Given the description of an element on the screen output the (x, y) to click on. 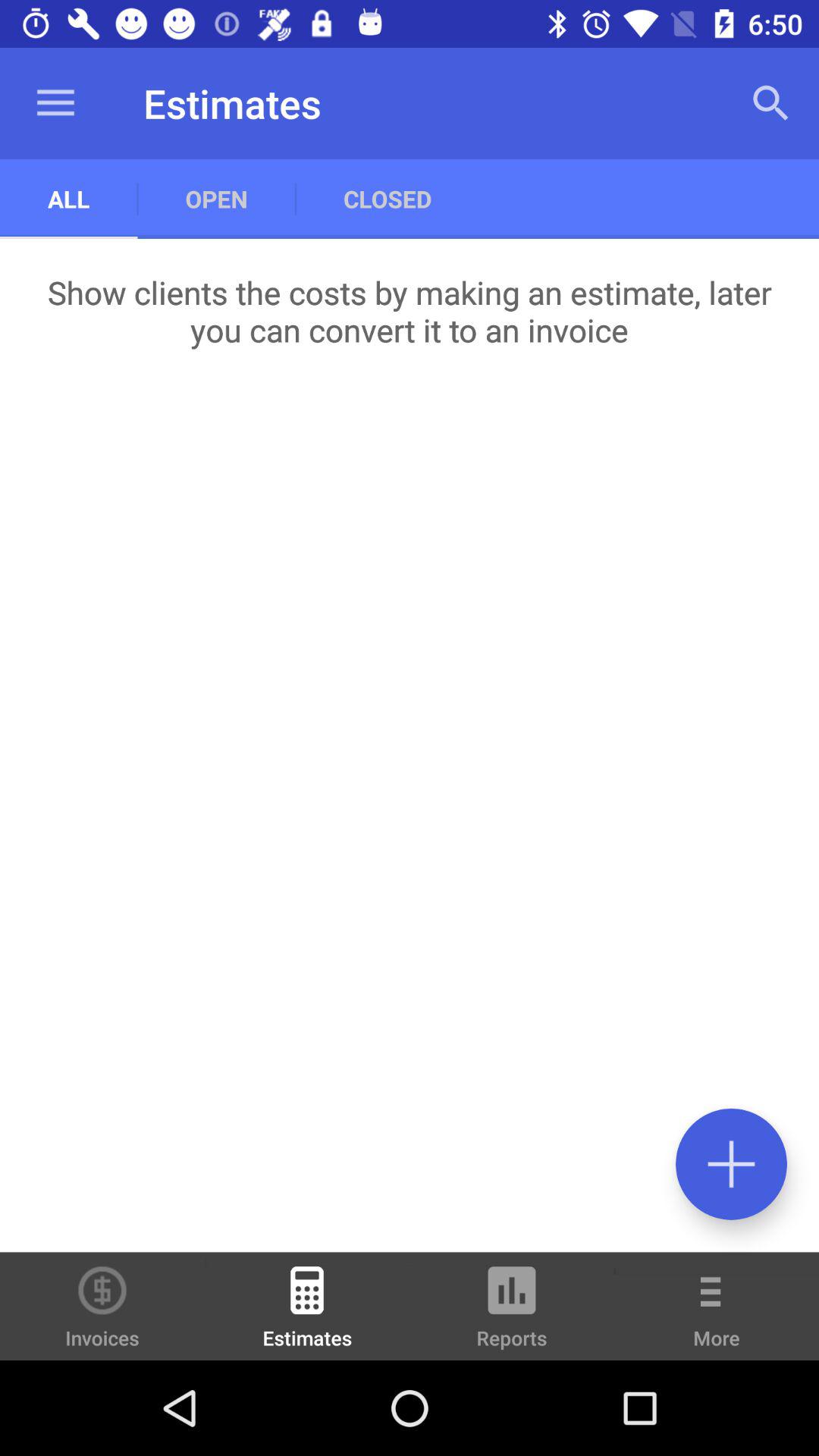
choose item next to the estimates icon (102, 1306)
